Given the description of an element on the screen output the (x, y) to click on. 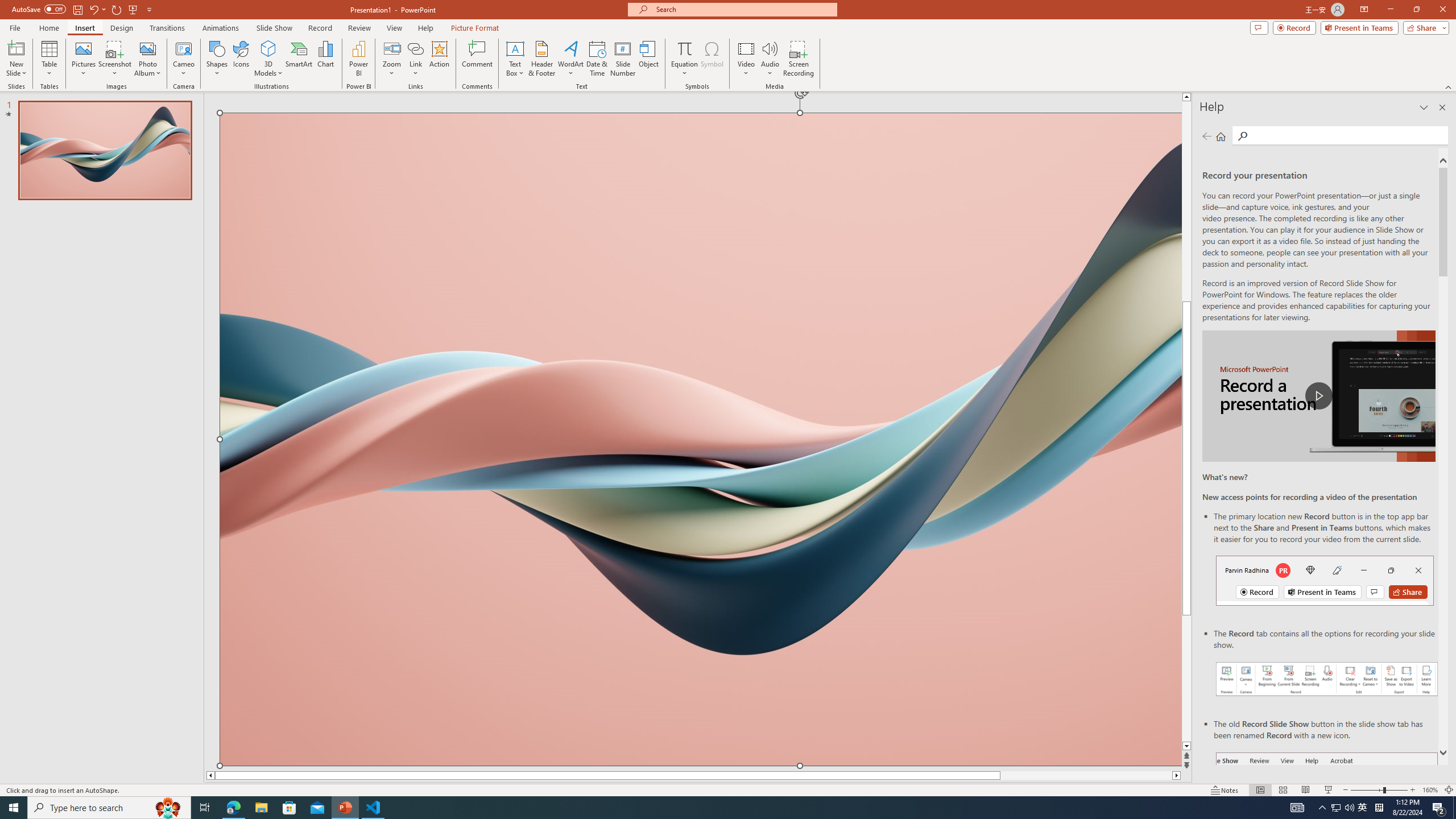
Photo Album... (147, 58)
Power BI (358, 58)
Header & Footer... (541, 58)
Equation (683, 58)
Chart... (325, 58)
3D Models (268, 48)
